Given the description of an element on the screen output the (x, y) to click on. 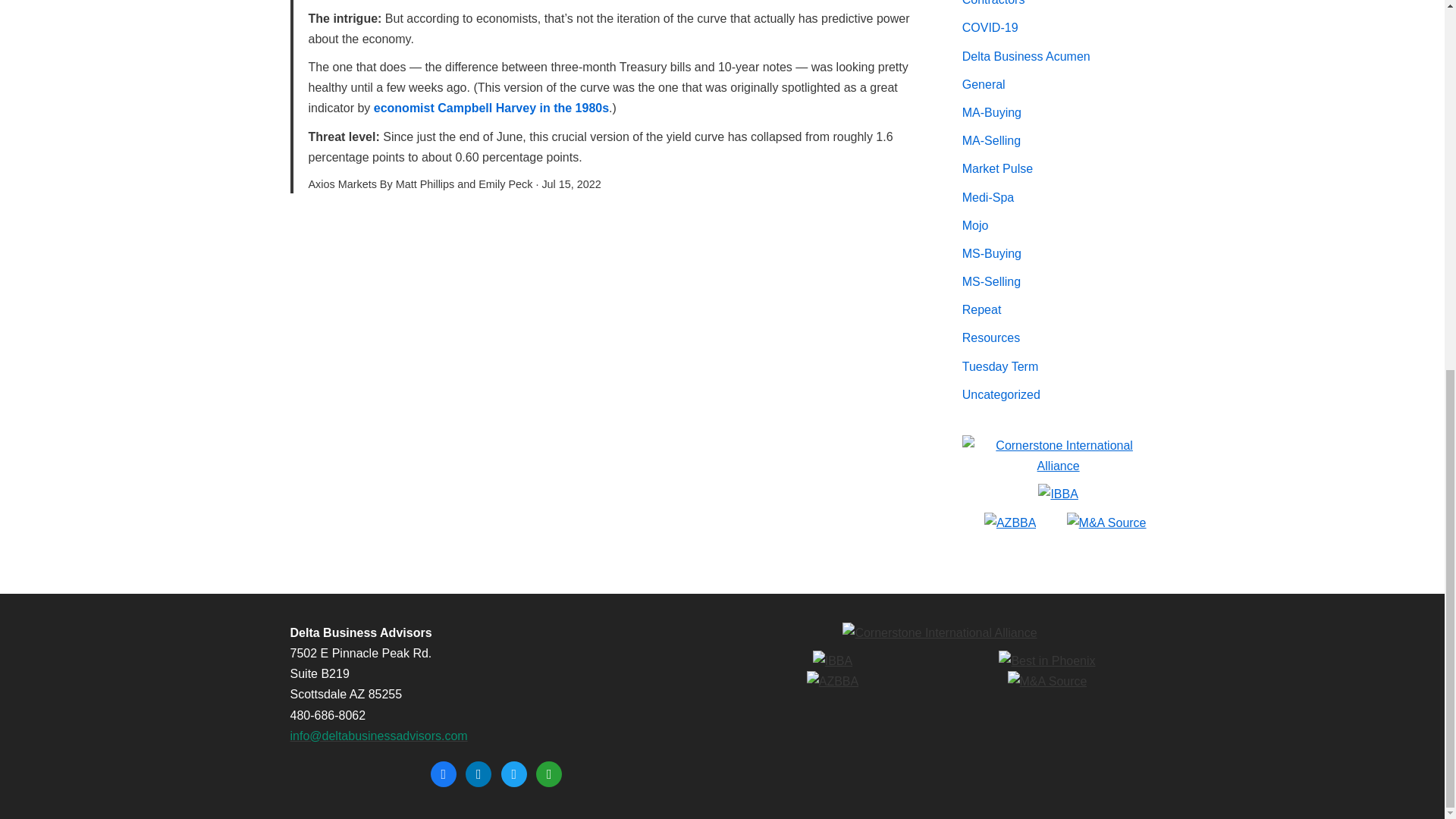
Default Label (548, 772)
Twitter (478, 772)
Facebook (443, 772)
Instagram (513, 772)
